Given the description of an element on the screen output the (x, y) to click on. 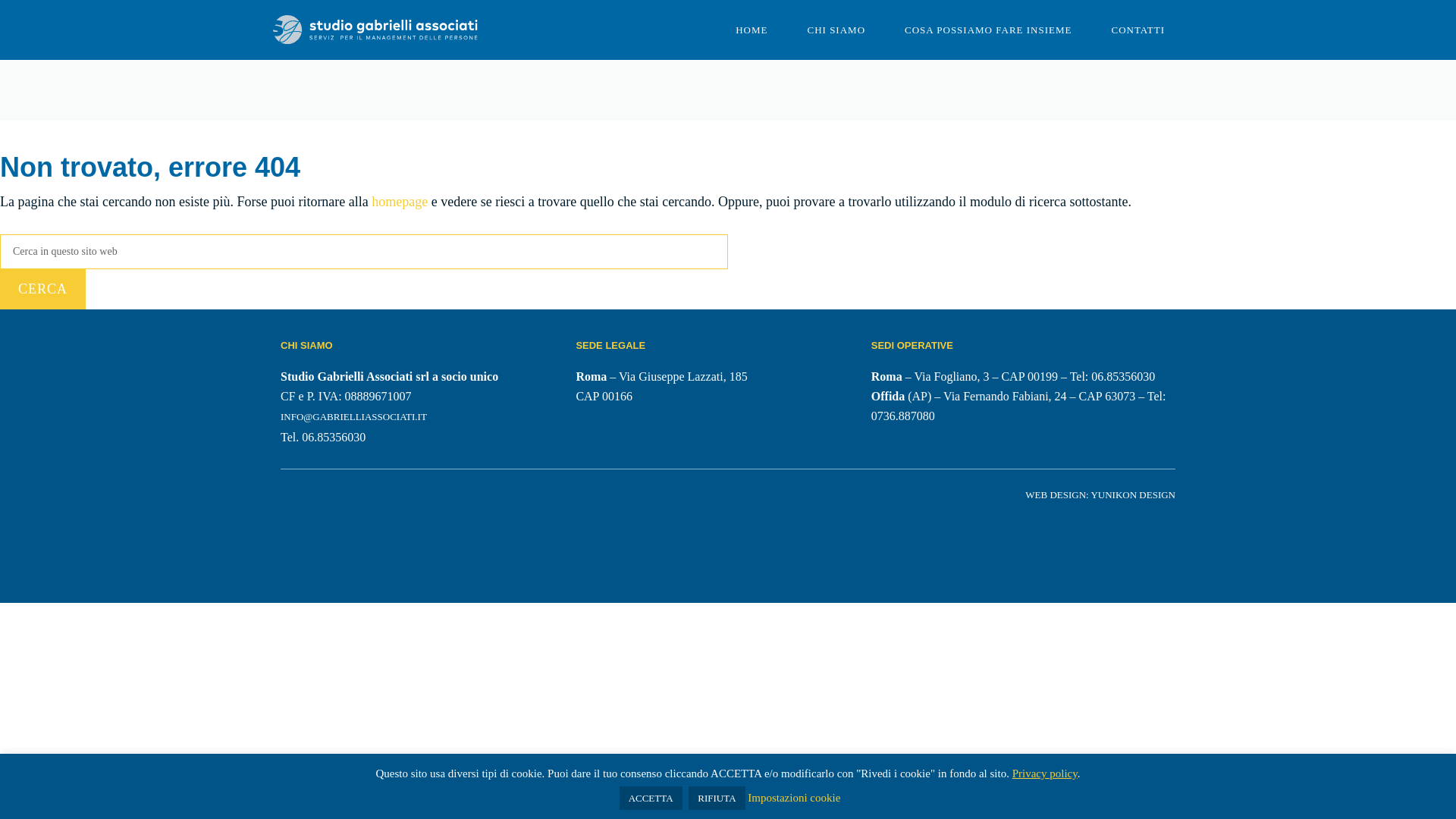
Gabrielli Associati (375, 30)
CONTATTI (1137, 29)
HOME (751, 29)
WEB DESIGN: YUNIKON DESIGN (1099, 494)
Cerca (42, 289)
Cerca (42, 289)
COSA POSSIAMO FARE INSIEME (987, 29)
homepage (399, 201)
Cerca (42, 289)
CHI SIAMO (836, 29)
Gabrielli Associati (375, 29)
